Given the description of an element on the screen output the (x, y) to click on. 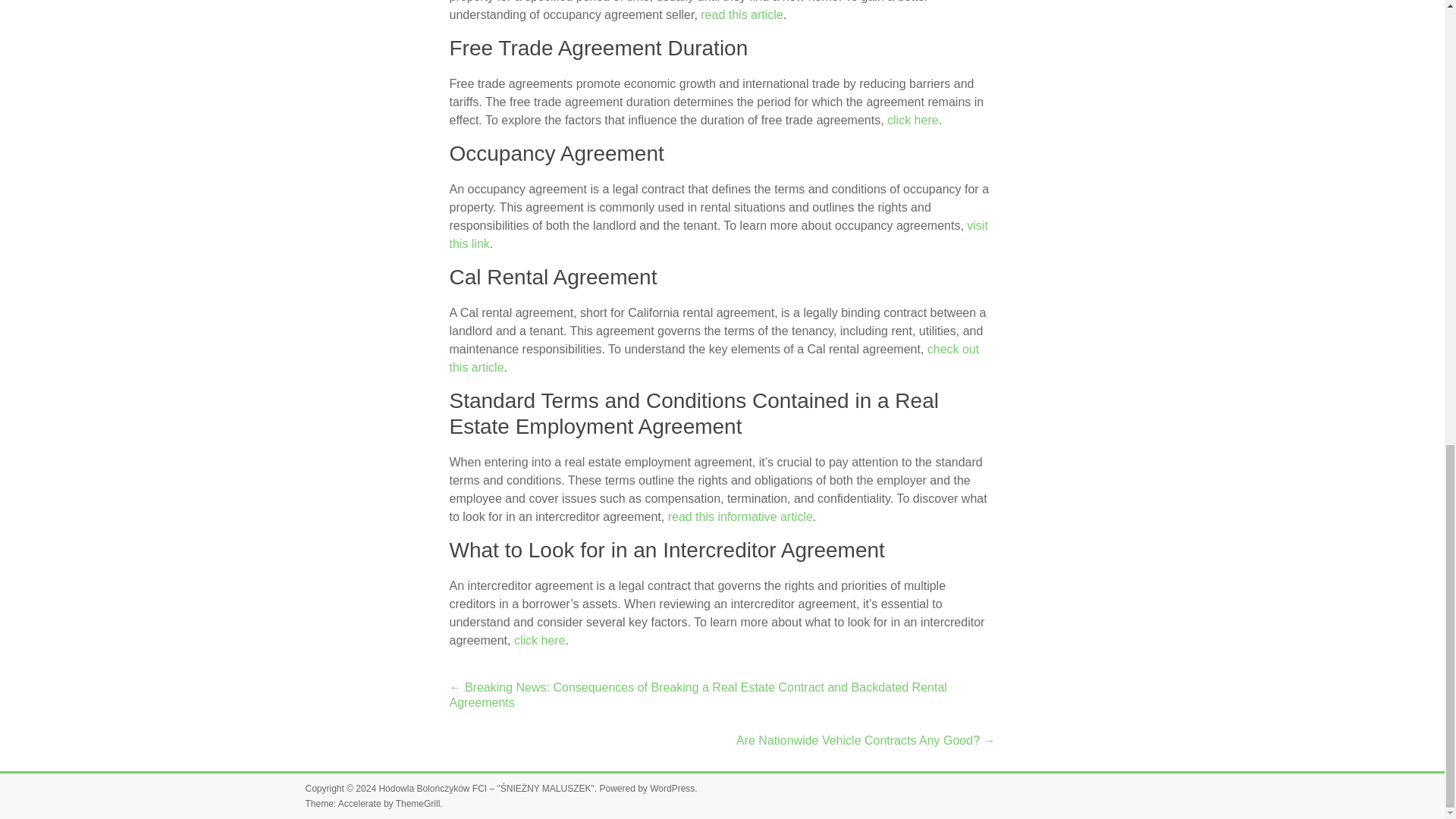
read this article (741, 14)
click here (912, 119)
WordPress (671, 787)
visit this link (717, 234)
click here (539, 640)
check out this article (713, 358)
ThemeGrill (418, 803)
WordPress (671, 787)
read this informative article (740, 516)
ThemeGrill (418, 803)
